Given the description of an element on the screen output the (x, y) to click on. 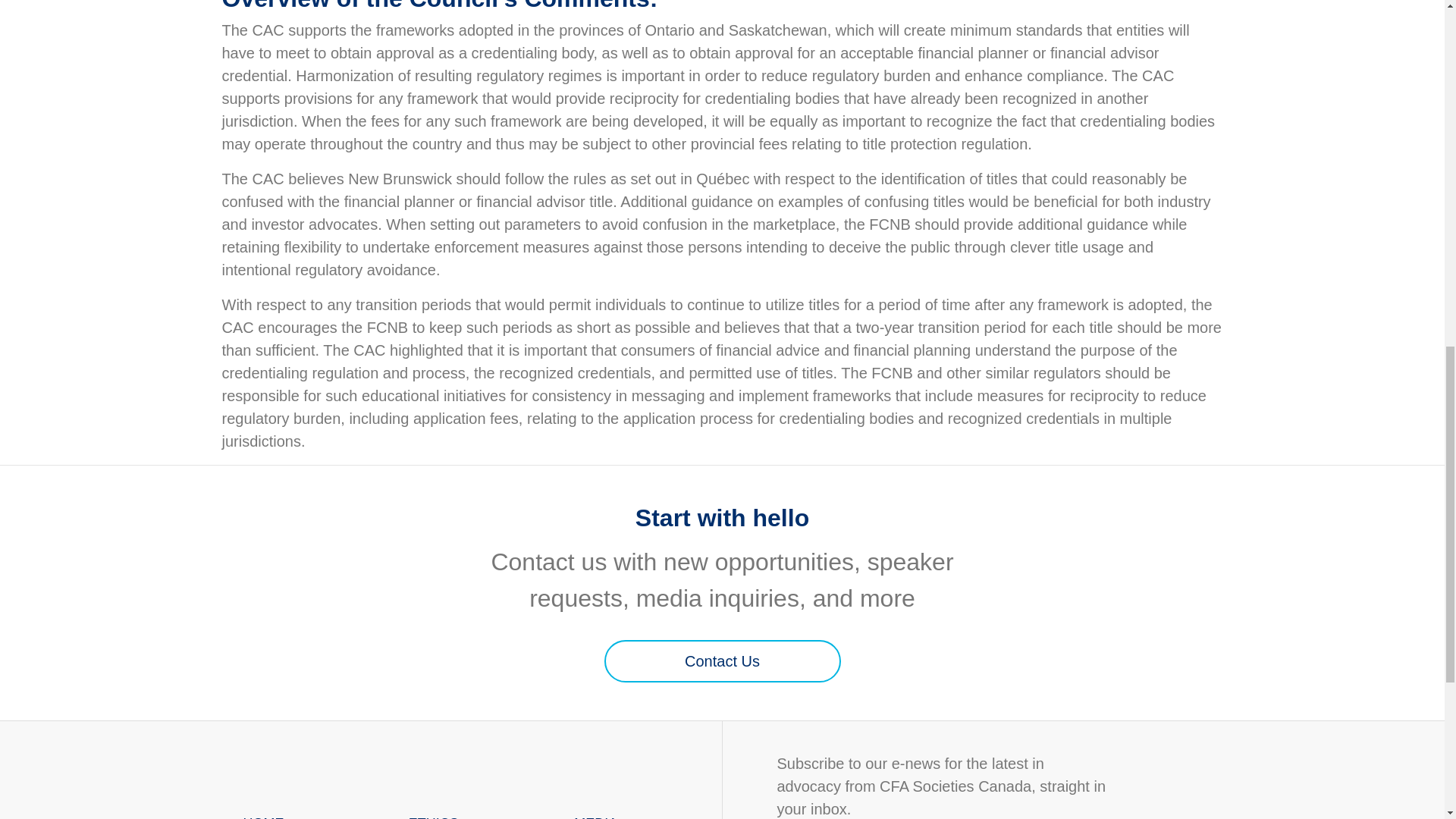
ETHICS (471, 813)
HOME (305, 813)
Contact Us (722, 660)
MEDIA (636, 813)
